Given the description of an element on the screen output the (x, y) to click on. 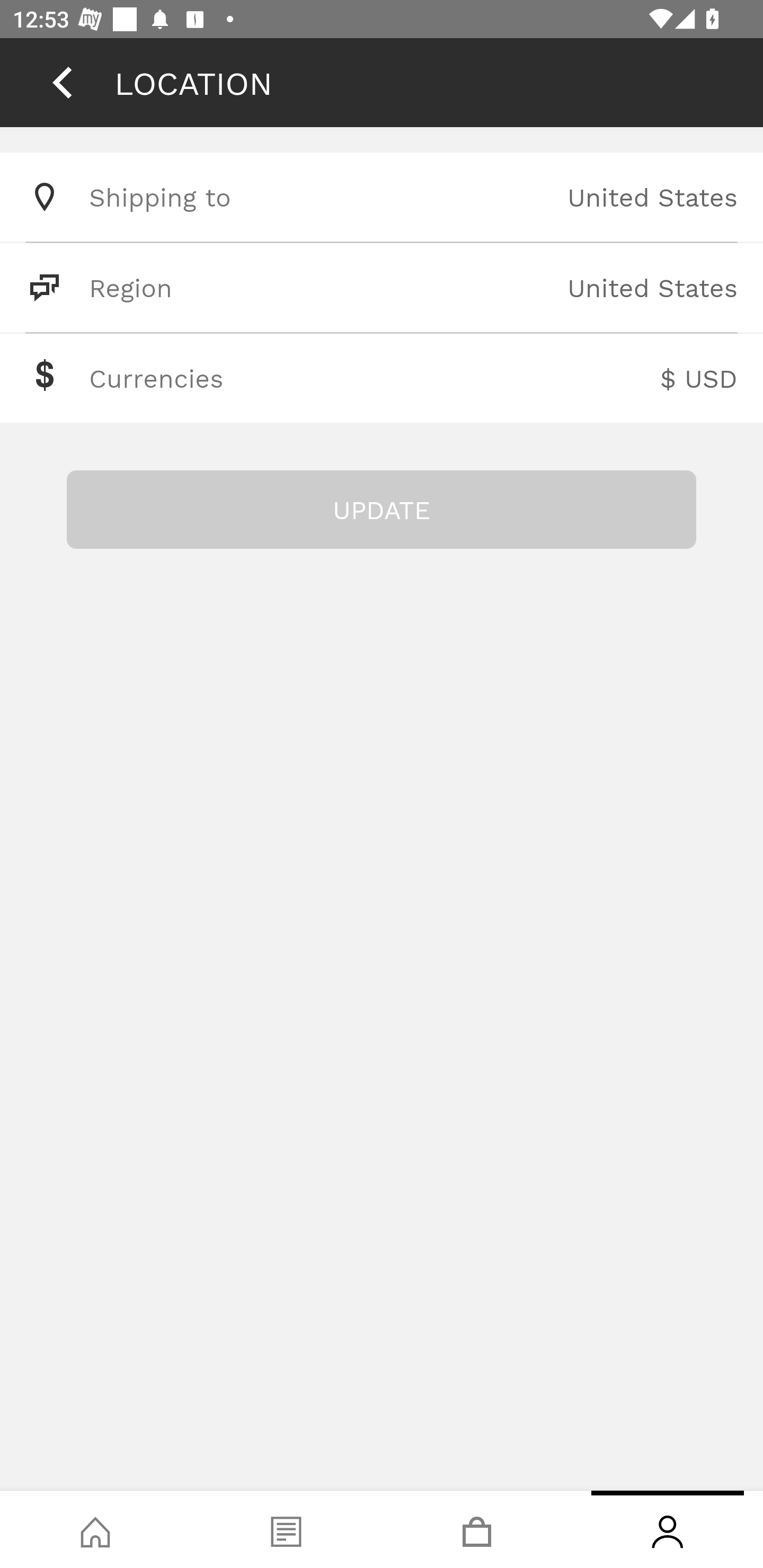
ACCOUNT, back (61, 82)
Shipping to Shipping to United States (381, 196)
Region Region United States (381, 287)
Currencies Currencies $ USD (381, 378)
Update UPDATE (381, 509)
Shop, tab, 1 of 4 (95, 1529)
Blog, tab, 2 of 4 (285, 1529)
Basket, tab, 3 of 4 (476, 1529)
Account, tab, 4 of 4 (667, 1529)
